Given the description of an element on the screen output the (x, y) to click on. 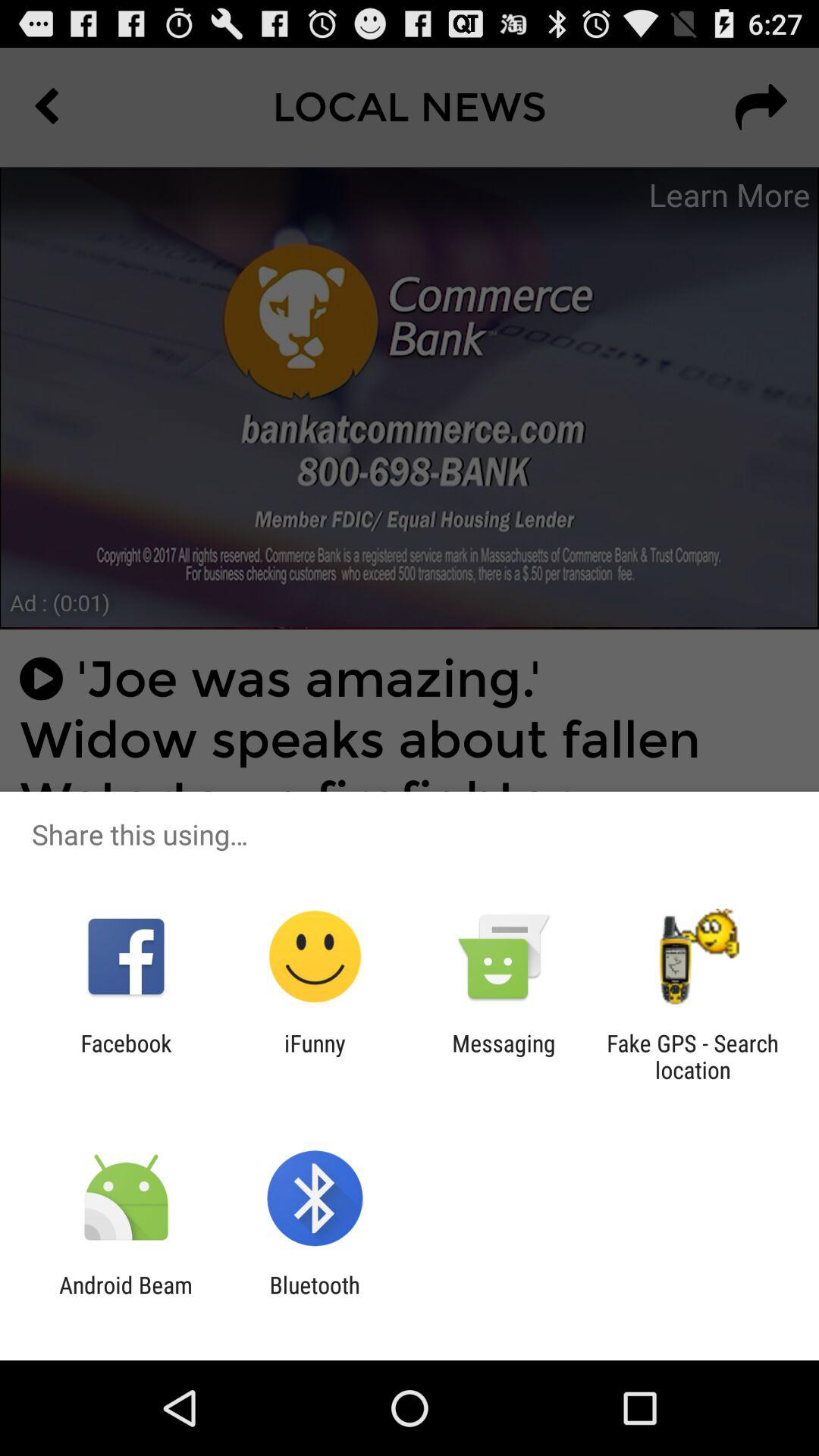
turn off the item next to the ifunny icon (503, 1056)
